Given the description of an element on the screen output the (x, y) to click on. 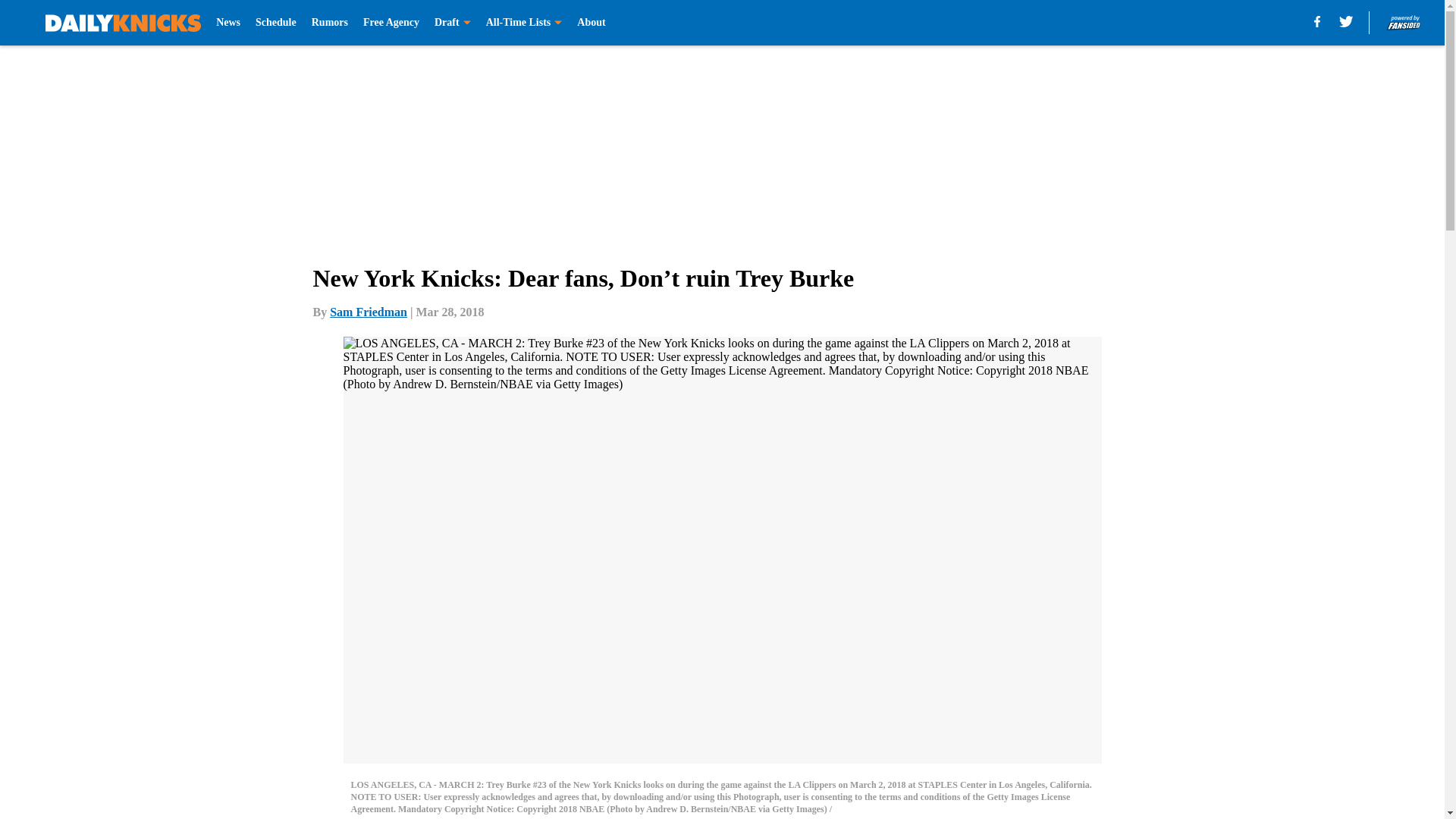
Schedule (276, 22)
Rumors (329, 22)
All-Time Lists (524, 22)
Sam Friedman (368, 311)
About (590, 22)
Draft (451, 22)
Free Agency (390, 22)
News (227, 22)
